Given the description of an element on the screen output the (x, y) to click on. 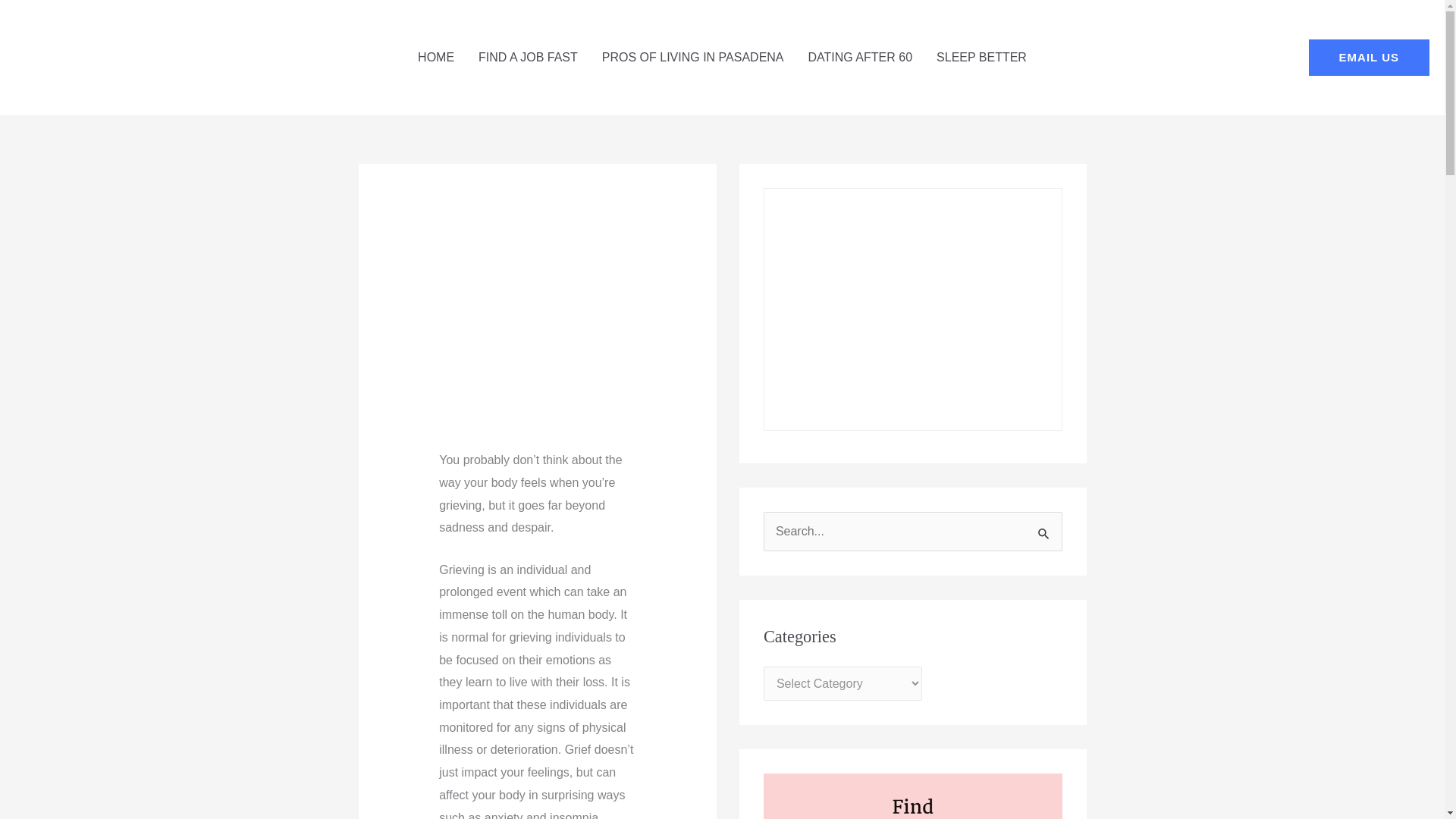
PROS OF LIVING IN PASADENA (692, 57)
EMAIL US (1368, 57)
FIND A JOB FAST (527, 57)
DATING AFTER 60 (860, 57)
SLEEP BETTER (981, 57)
